Given the description of an element on the screen output the (x, y) to click on. 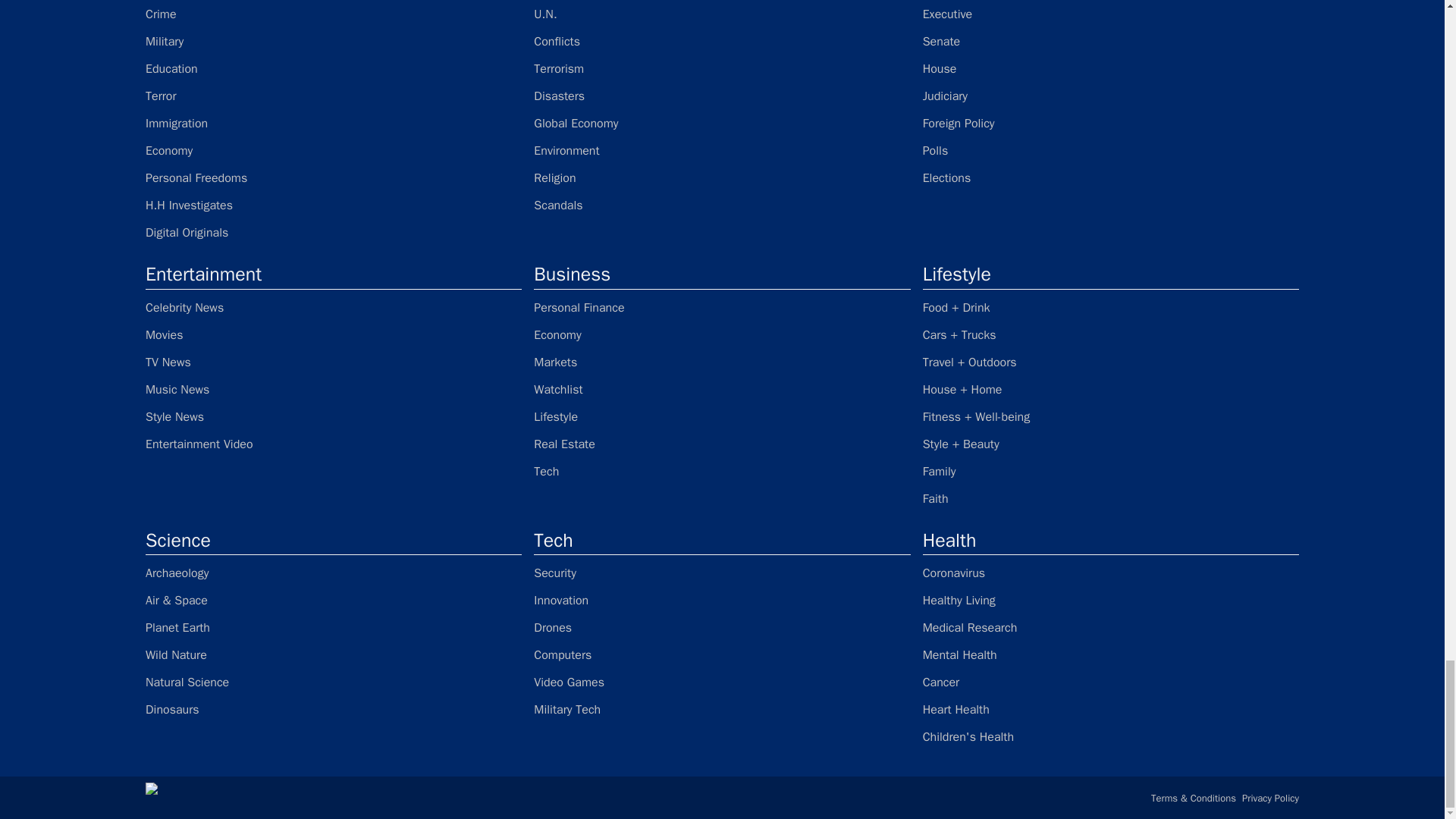
U.N. (722, 14)
Economy (333, 150)
Environment (722, 150)
Terrorism (722, 68)
Executive (1110, 14)
Global Economy (722, 123)
Disasters (722, 96)
Education (333, 68)
Immigration (333, 123)
Terror (333, 96)
